Given the description of an element on the screen output the (x, y) to click on. 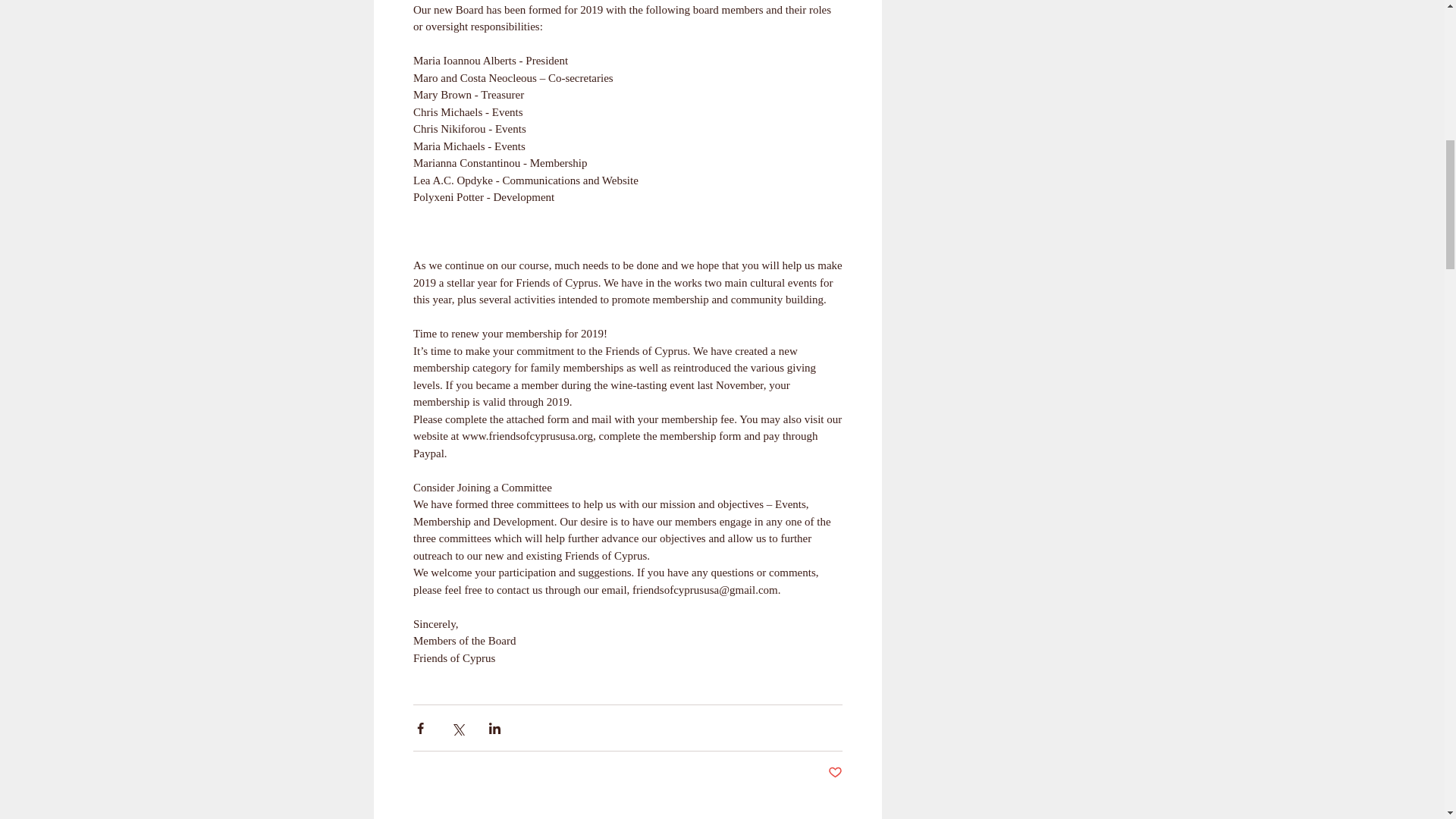
Post not marked as liked (835, 772)
